Given the description of an element on the screen output the (x, y) to click on. 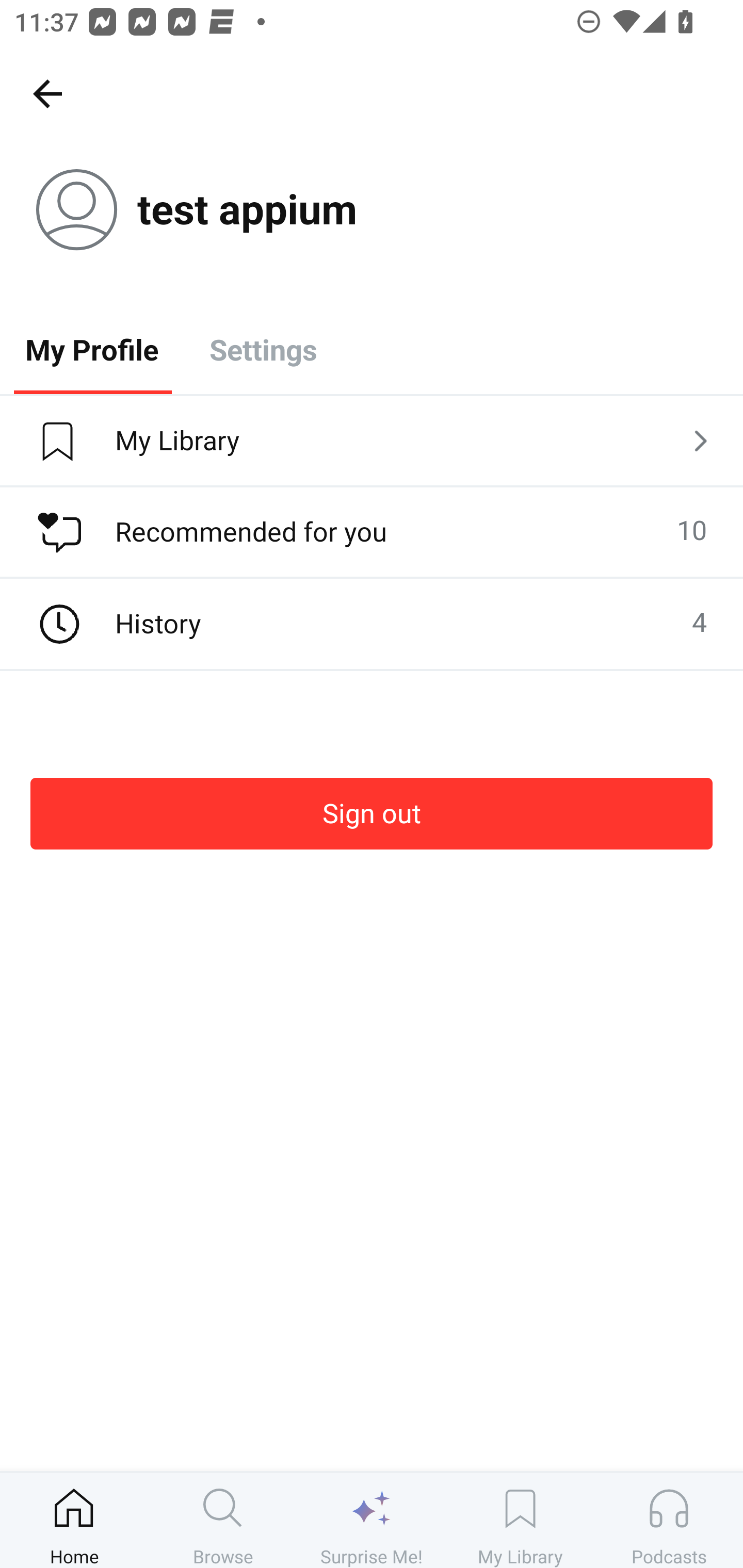
Home, back (47, 92)
My Profile (92, 348)
Settings (263, 348)
My Library (371, 441)
Recommended for you 10 (371, 532)
History 4 (371, 623)
Sign out (371, 813)
Home (74, 1520)
Browse (222, 1520)
Surprise Me! (371, 1520)
My Library (519, 1520)
Podcasts (668, 1520)
